Given the description of an element on the screen output the (x, y) to click on. 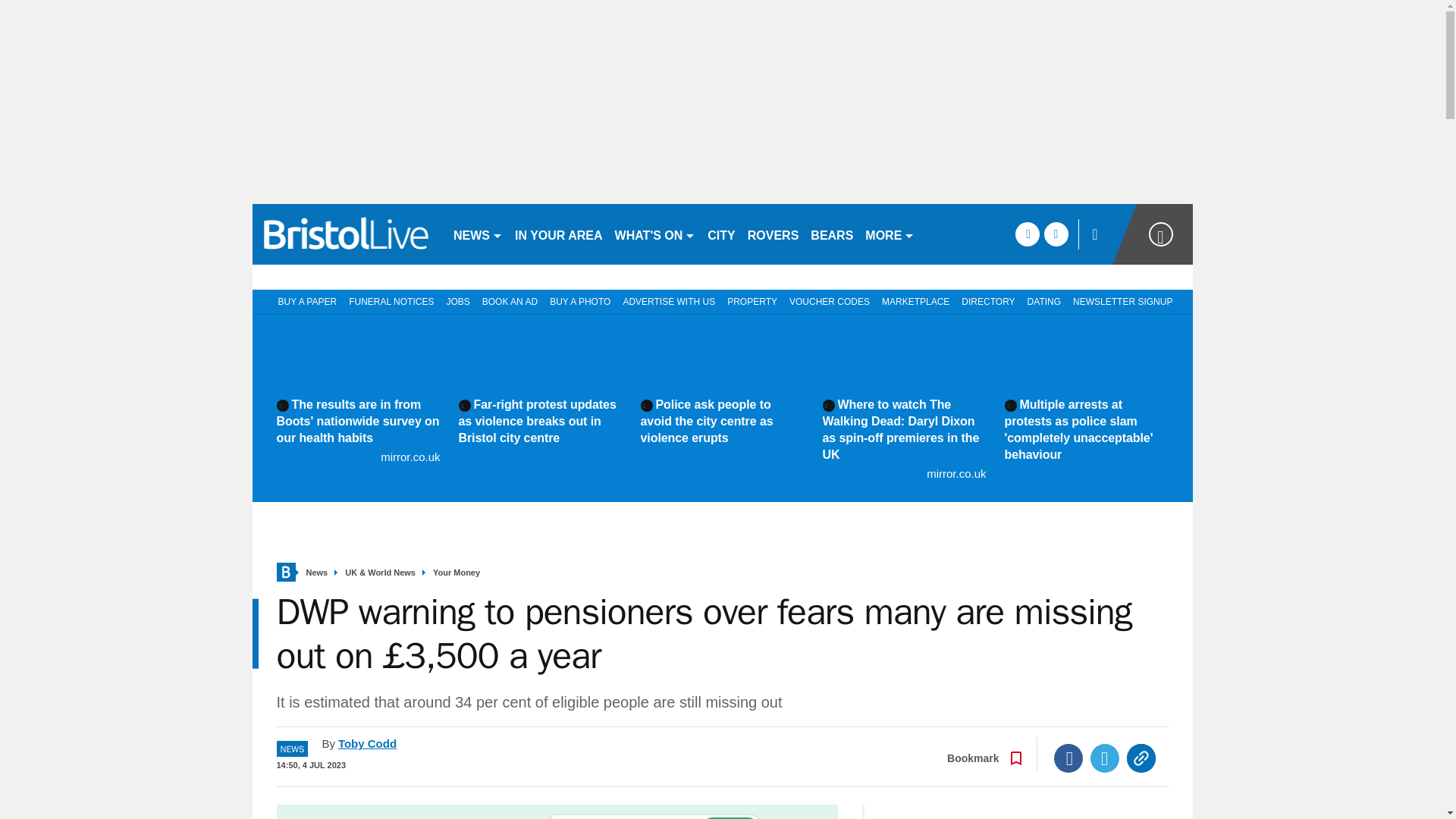
NEWS (477, 233)
MORE (889, 233)
facebook (1026, 233)
Facebook (1068, 758)
Twitter (1104, 758)
bristolpost (345, 233)
ROVERS (773, 233)
BEARS (832, 233)
Go (730, 818)
twitter (1055, 233)
